Given the description of an element on the screen output the (x, y) to click on. 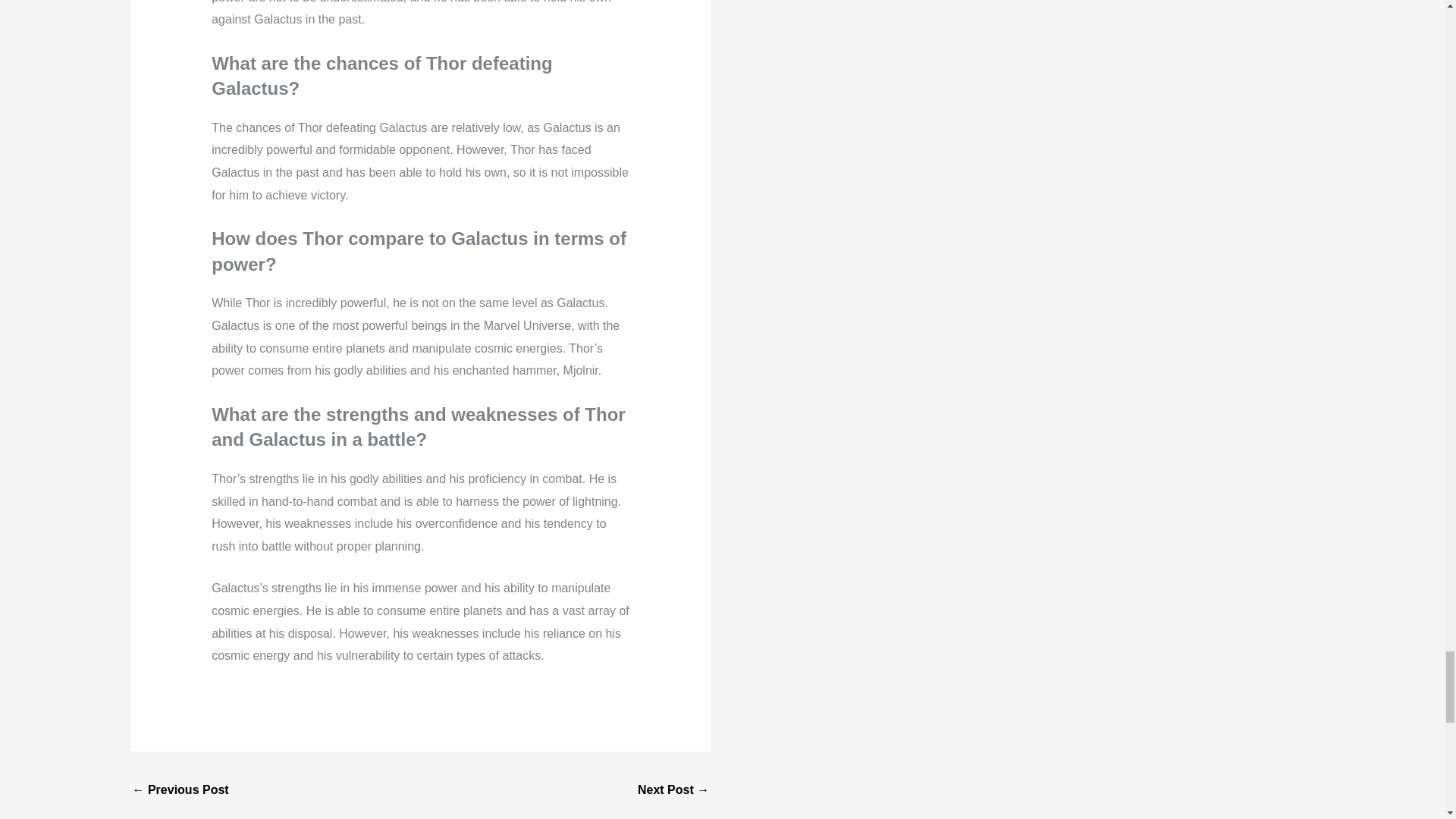
Thor vs Loki: Analyzing Who Would Win in a Mythical Battle (673, 791)
Doctor Strange vs Thor: A Battle of Magic and Might (180, 791)
